Given the description of an element on the screen output the (x, y) to click on. 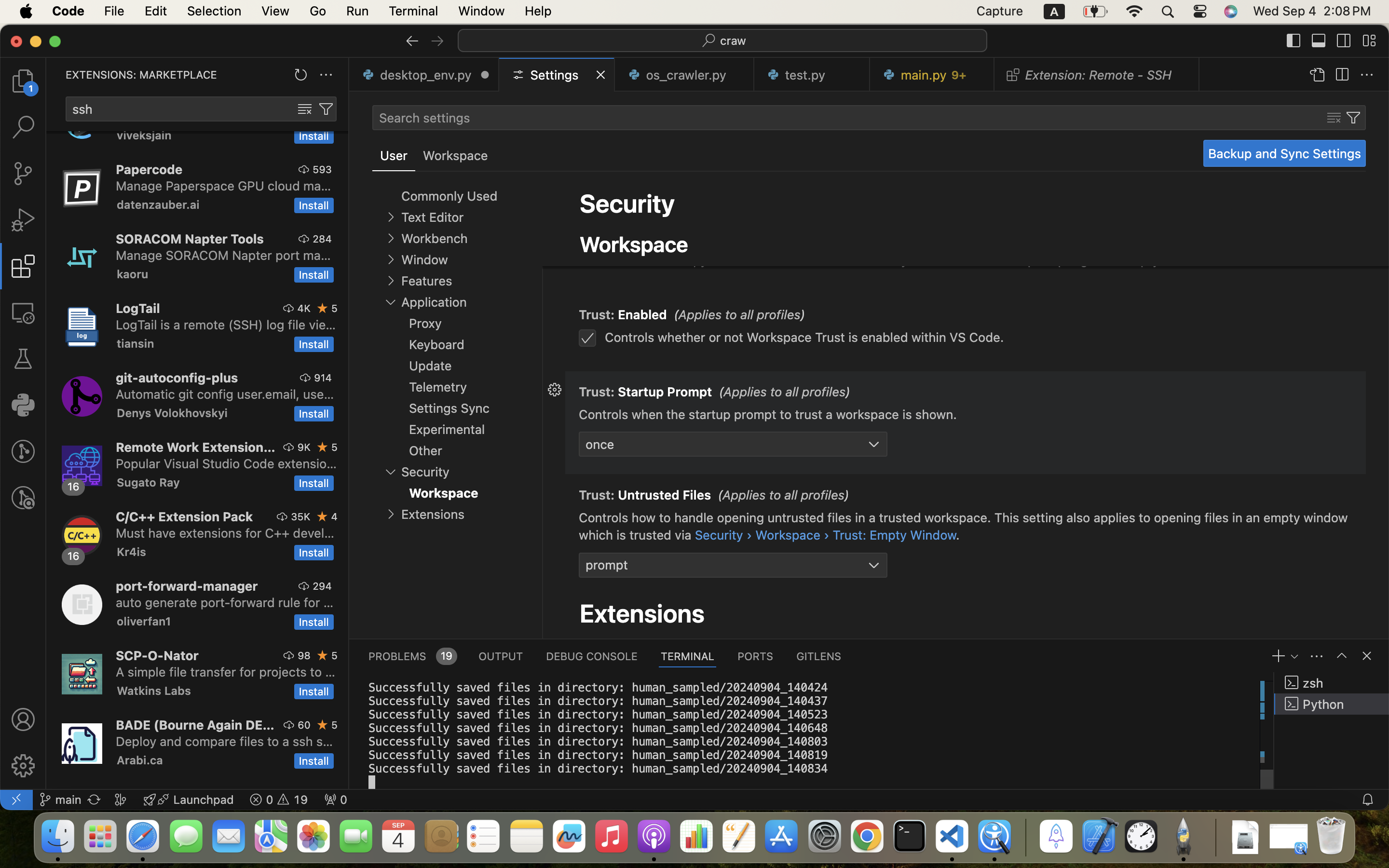
 Element type: AXStaticText (554, 217)
Startup Prompt Element type: AXStaticText (665, 391)
Workspace Element type: AXStaticText (633, 243)
0  Element type: AXRadioButton (23, 451)
Papercode Element type: AXStaticText (149, 169)
